Given the description of an element on the screen output the (x, y) to click on. 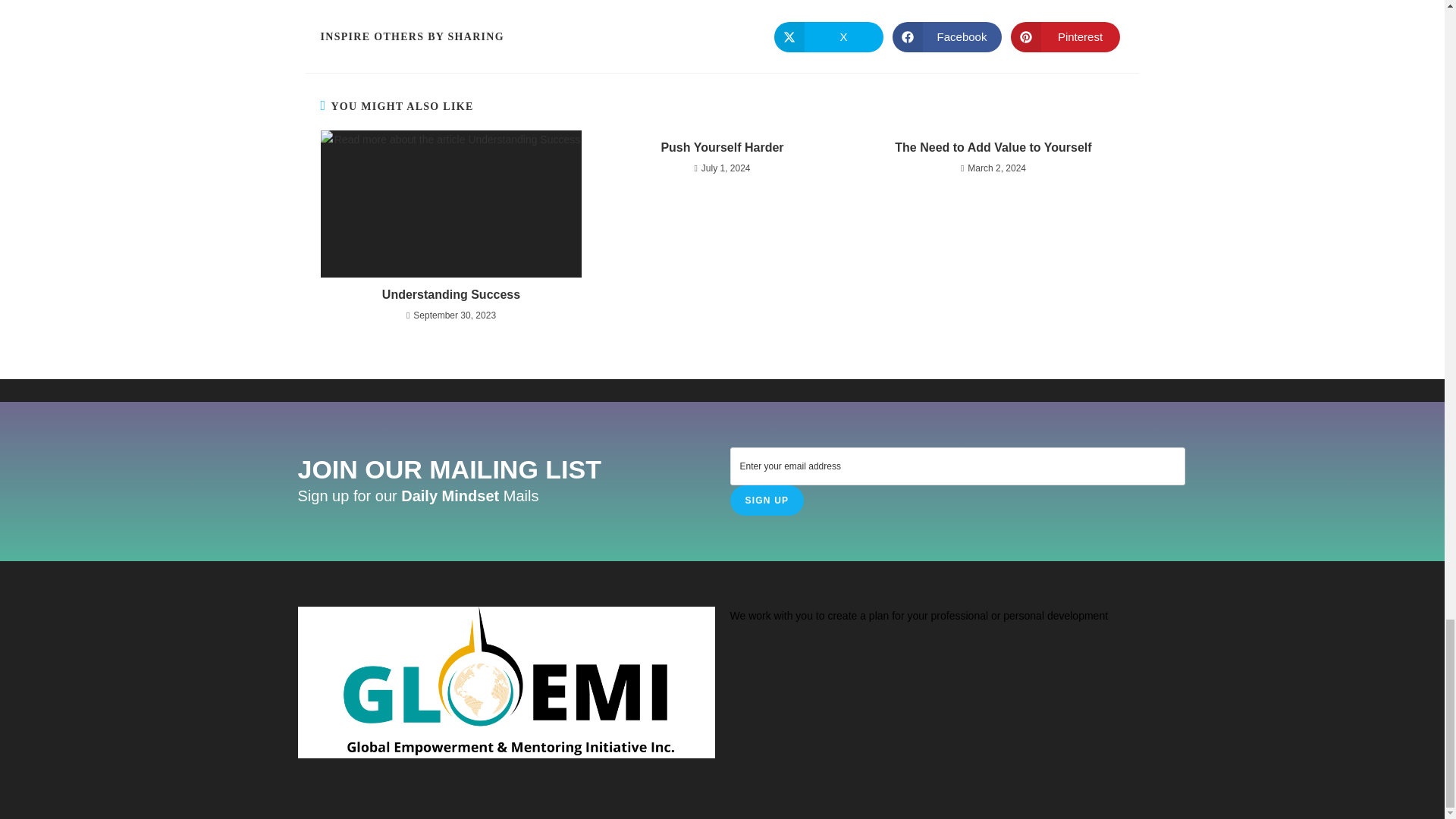
Push Yourself Harder (721, 147)
Understanding Success (450, 294)
SIGN UP (766, 500)
Facebook (946, 37)
X (827, 37)
The Need to Add Value to Yourself (992, 147)
Pinterest (1064, 37)
Enter your email address (957, 466)
